Given the description of an element on the screen output the (x, y) to click on. 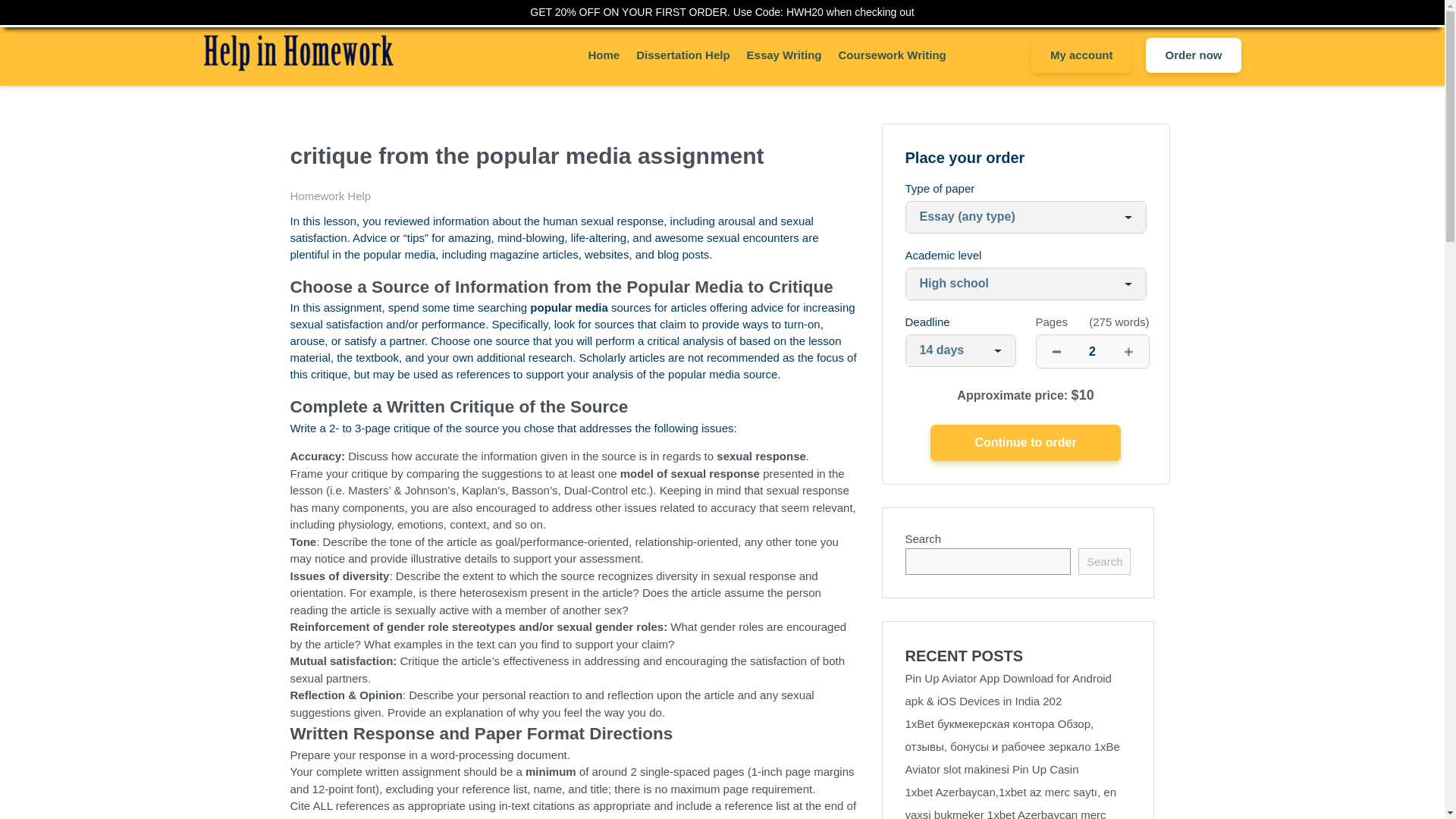
Continue to order (1024, 443)
Home (604, 55)
Homework Help (330, 195)
Search (1104, 560)
Essay Writing (784, 55)
Aviator slot makinesi Pin Up Casin (991, 768)
My account (1081, 54)
Order now (1192, 54)
Dissertation Help (682, 55)
2 (1091, 350)
Continue to order (1024, 443)
Coursework Writing (891, 55)
